Given the description of an element on the screen output the (x, y) to click on. 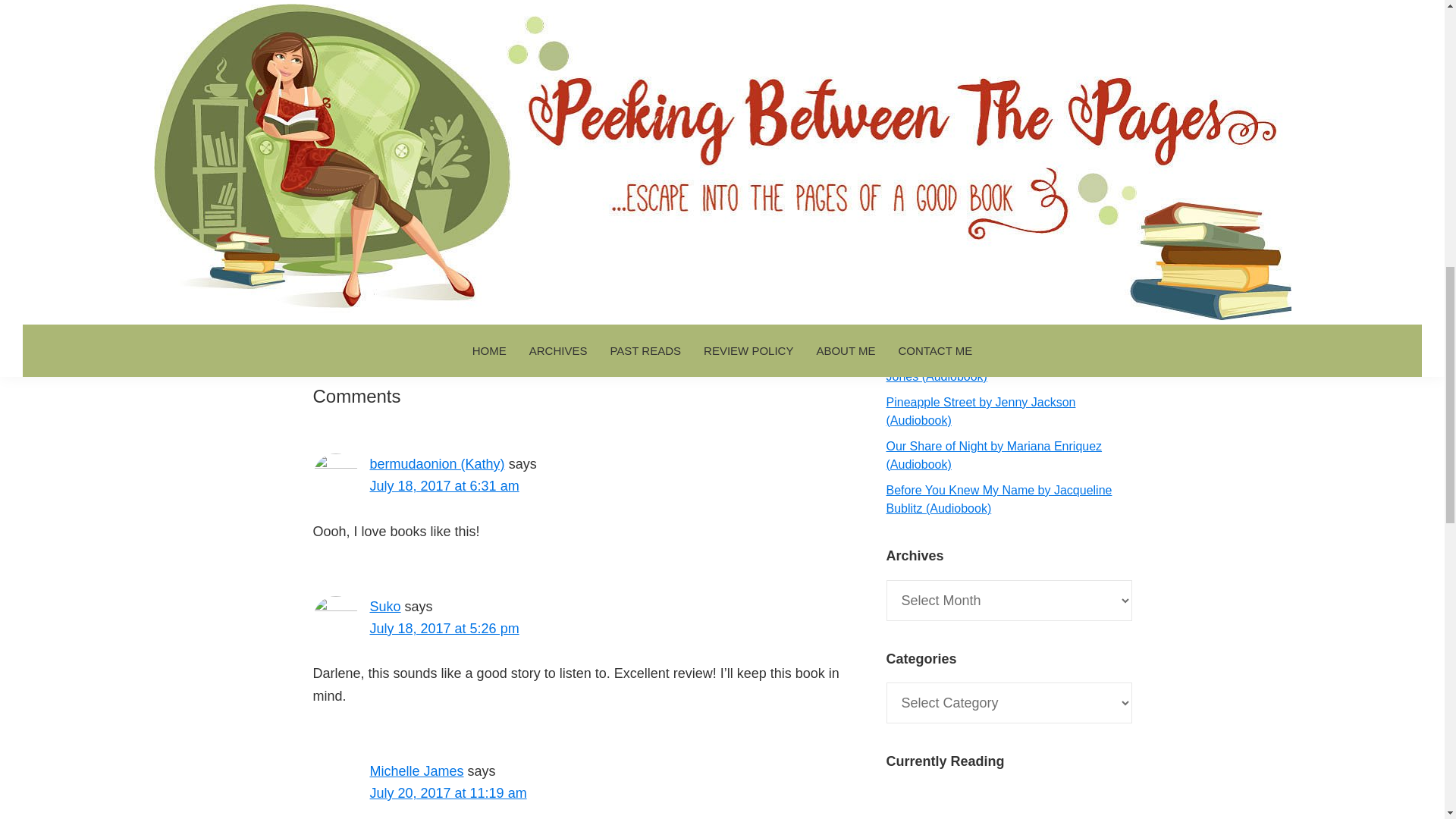
2017 Audiobook Reviews (551, 329)
Suko (385, 606)
2017 Book Reviews (680, 329)
Facebook (395, 278)
July 18, 2017 at 5:26 pm (444, 628)
Subscribe (1008, 239)
Twitter (425, 278)
July 18, 2017 at 6:31 am (444, 485)
Subscribe (1008, 239)
Pinterest (456, 278)
Twitter (425, 278)
Email (486, 278)
